Given the description of an element on the screen output the (x, y) to click on. 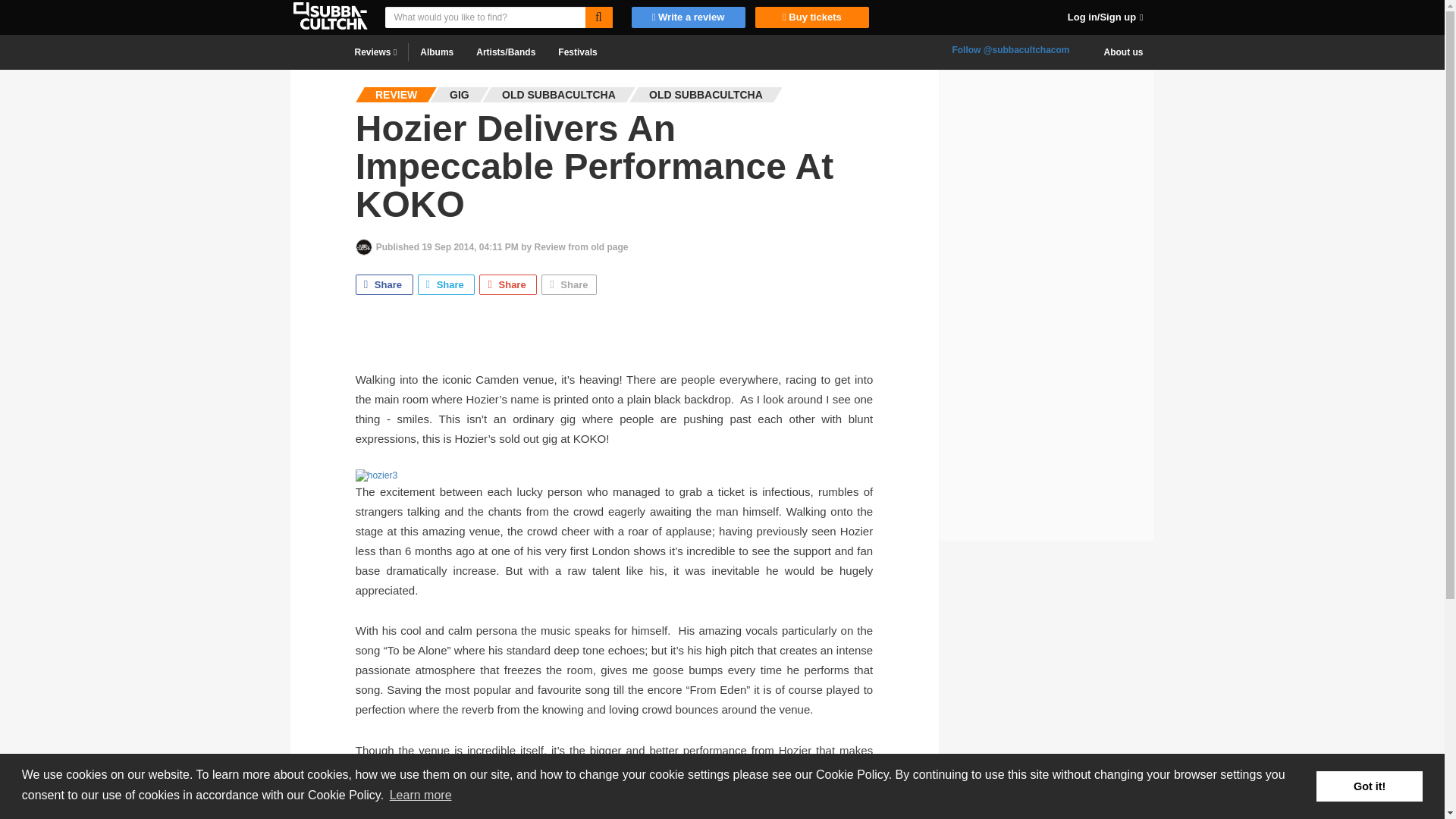
Festivals (577, 52)
Buy tickets (808, 16)
Share (446, 284)
Write a review (687, 16)
About us (1123, 52)
Share (508, 284)
Share (568, 284)
Got it! (1369, 786)
Share (384, 284)
Reviews (374, 52)
